Given the description of an element on the screen output the (x, y) to click on. 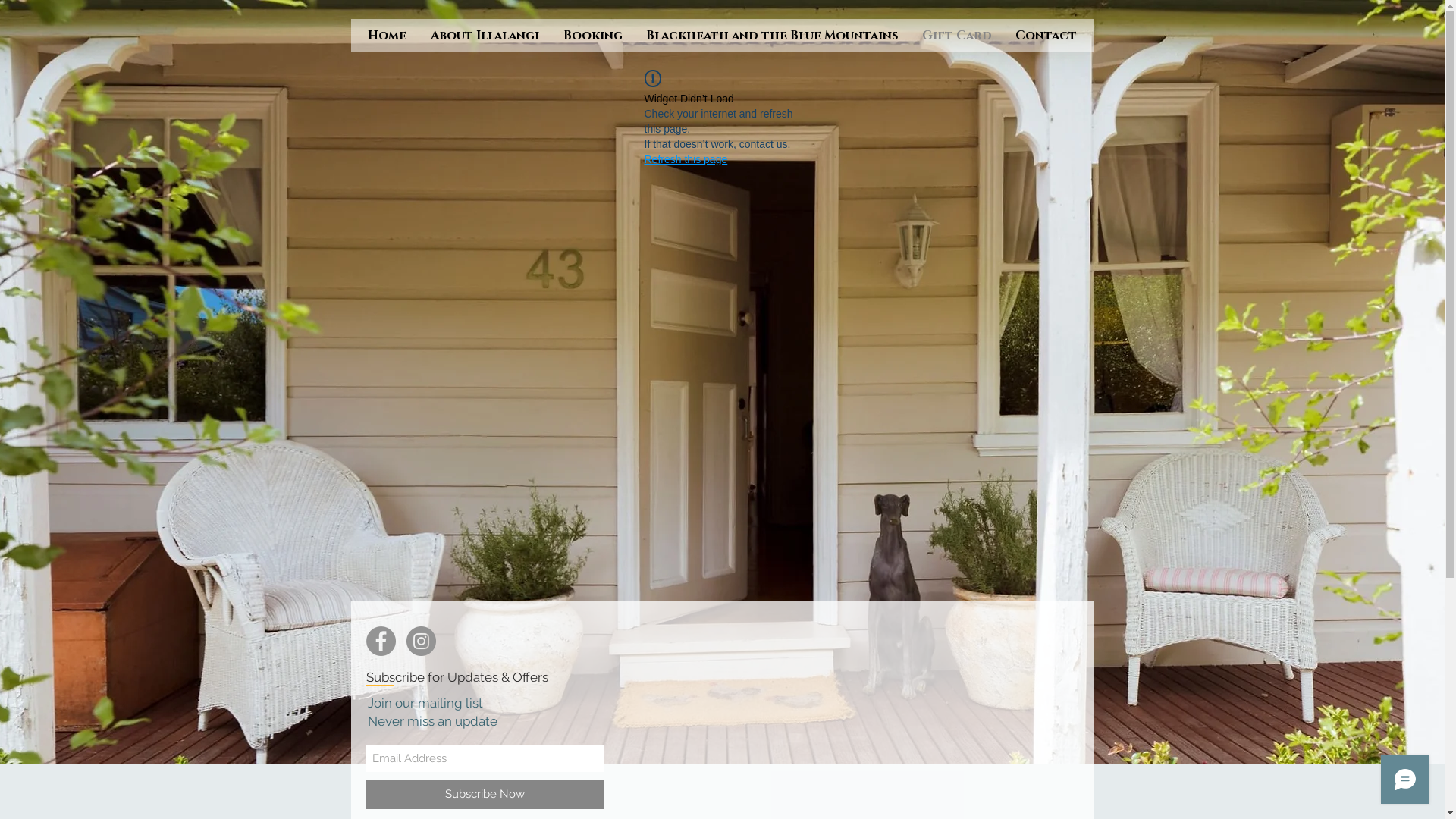
Home Element type: text (385, 35)
Refresh this page Element type: text (686, 158)
Subscribe Now Element type: text (484, 794)
Gift Card Element type: text (956, 35)
Booking Element type: text (591, 35)
Blackheath and the Blue Mountains Element type: text (771, 35)
About Illalangi Element type: text (484, 35)
Contact Element type: text (1046, 35)
